Given the description of an element on the screen output the (x, y) to click on. 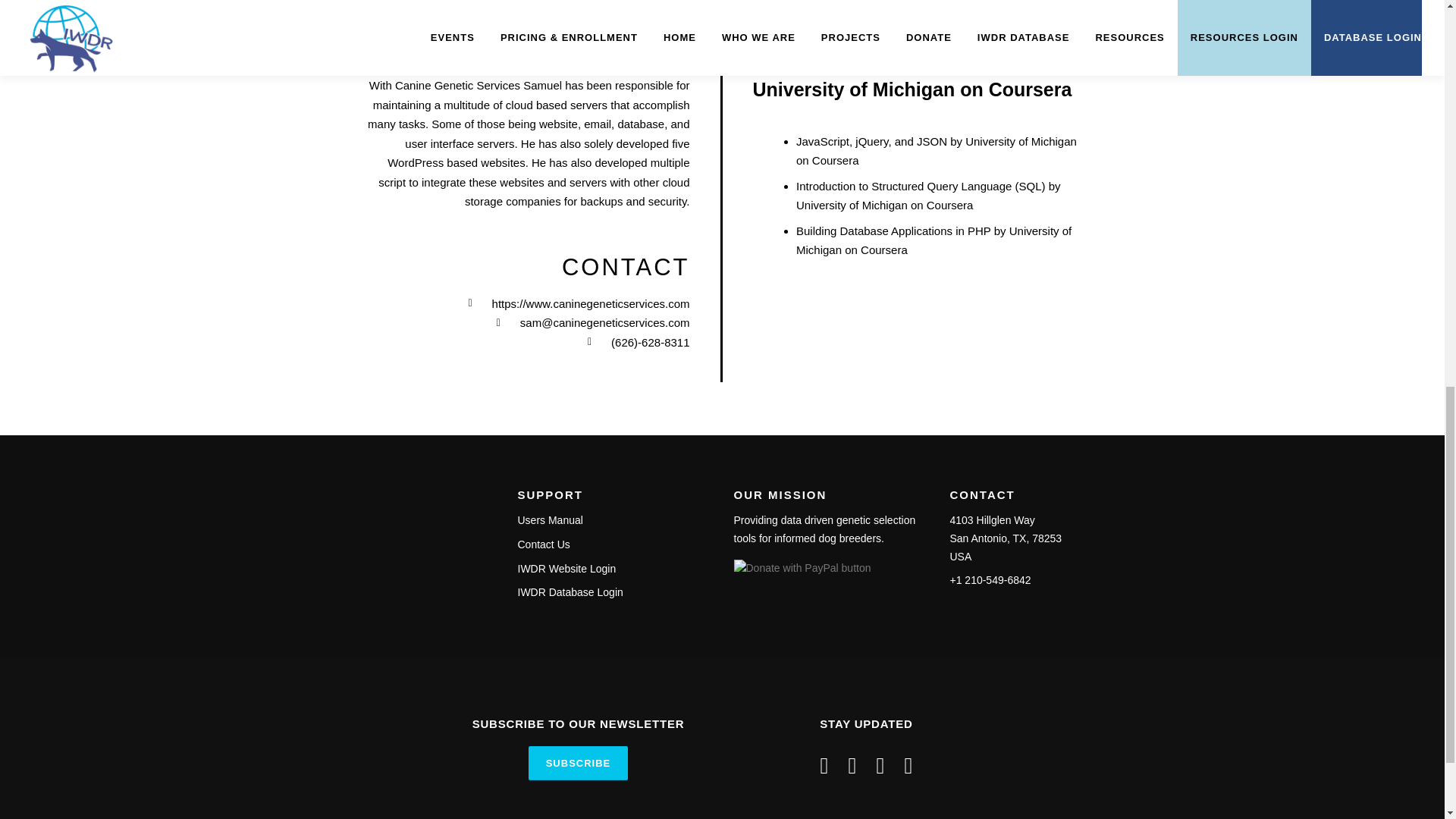
Subscribe (578, 763)
PayPal - The safer, easier way to pay online! (801, 568)
IWDR Website Login (565, 568)
IWDR Database Login (569, 592)
Subscribe (578, 763)
Users Manual (549, 520)
Contact Us (542, 544)
